Given the description of an element on the screen output the (x, y) to click on. 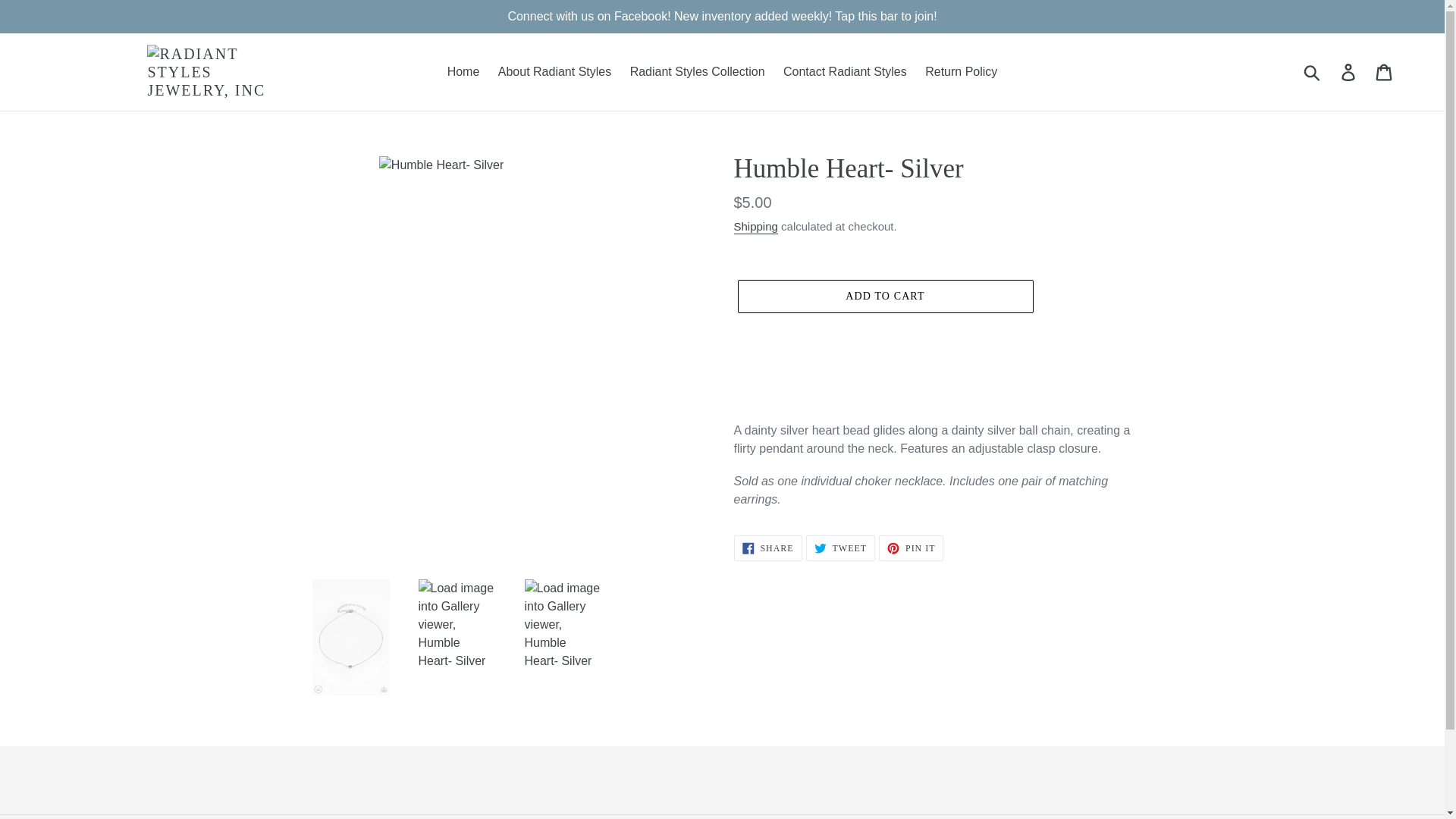
Log in (1349, 71)
Return Policy (960, 71)
ADD TO CART (884, 296)
About Radiant Styles (840, 548)
Cart (554, 71)
Contact Radiant Styles (767, 548)
Home (911, 548)
